Given the description of an element on the screen output the (x, y) to click on. 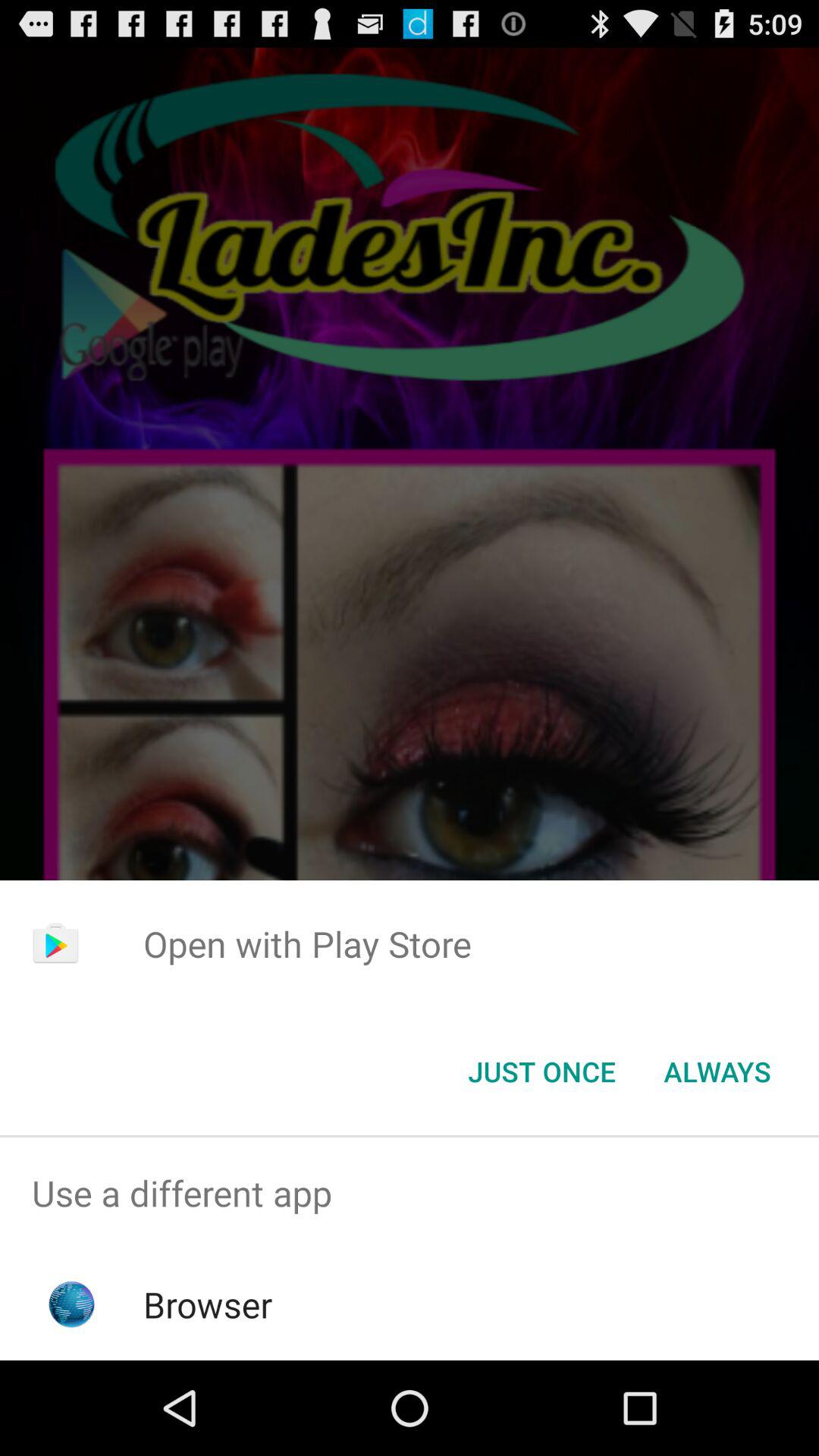
flip to the just once (541, 1071)
